Given the description of an element on the screen output the (x, y) to click on. 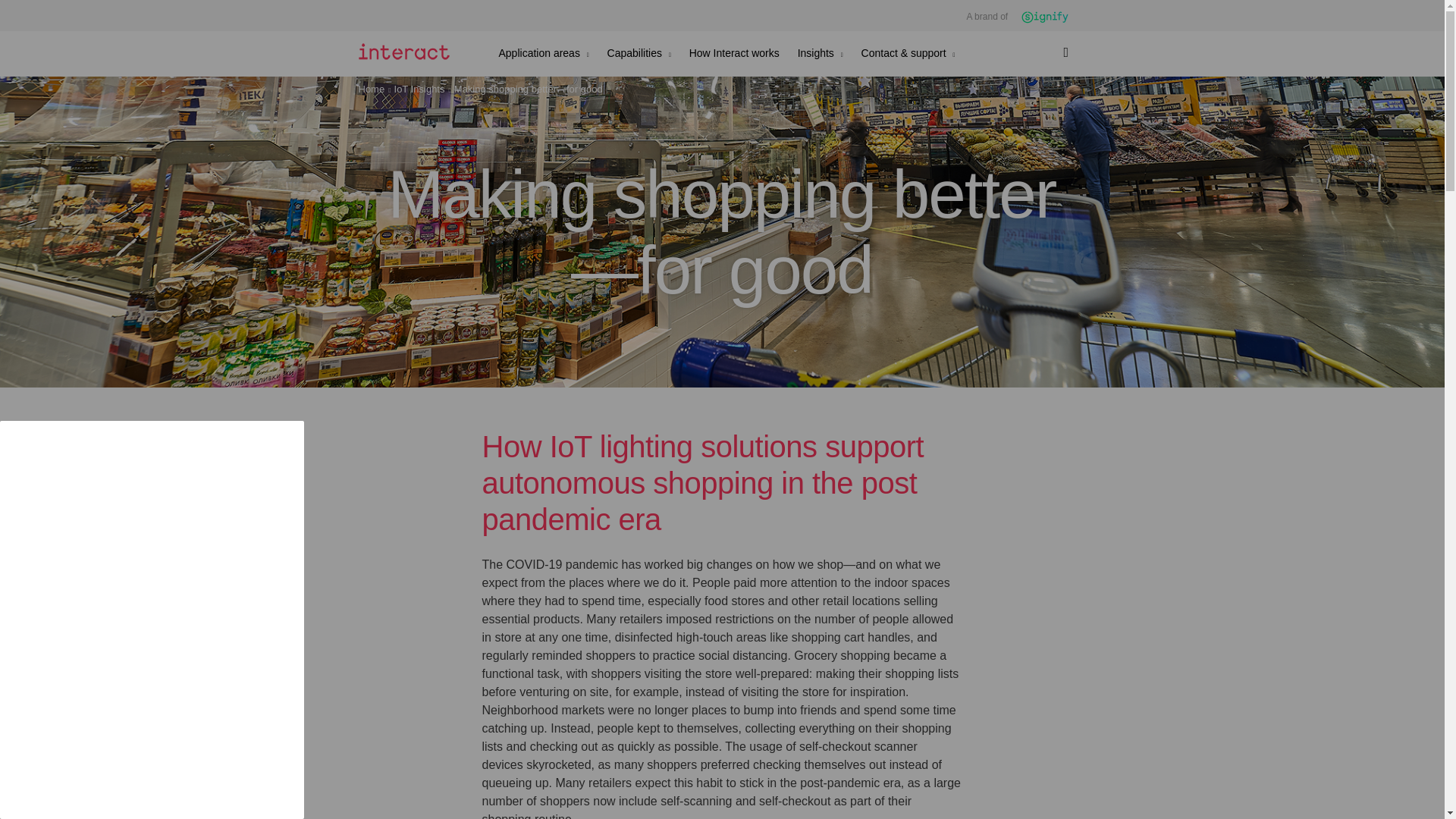
Home (374, 89)
How Interact works (733, 52)
IoT Insights (422, 89)
